Given the description of an element on the screen output the (x, y) to click on. 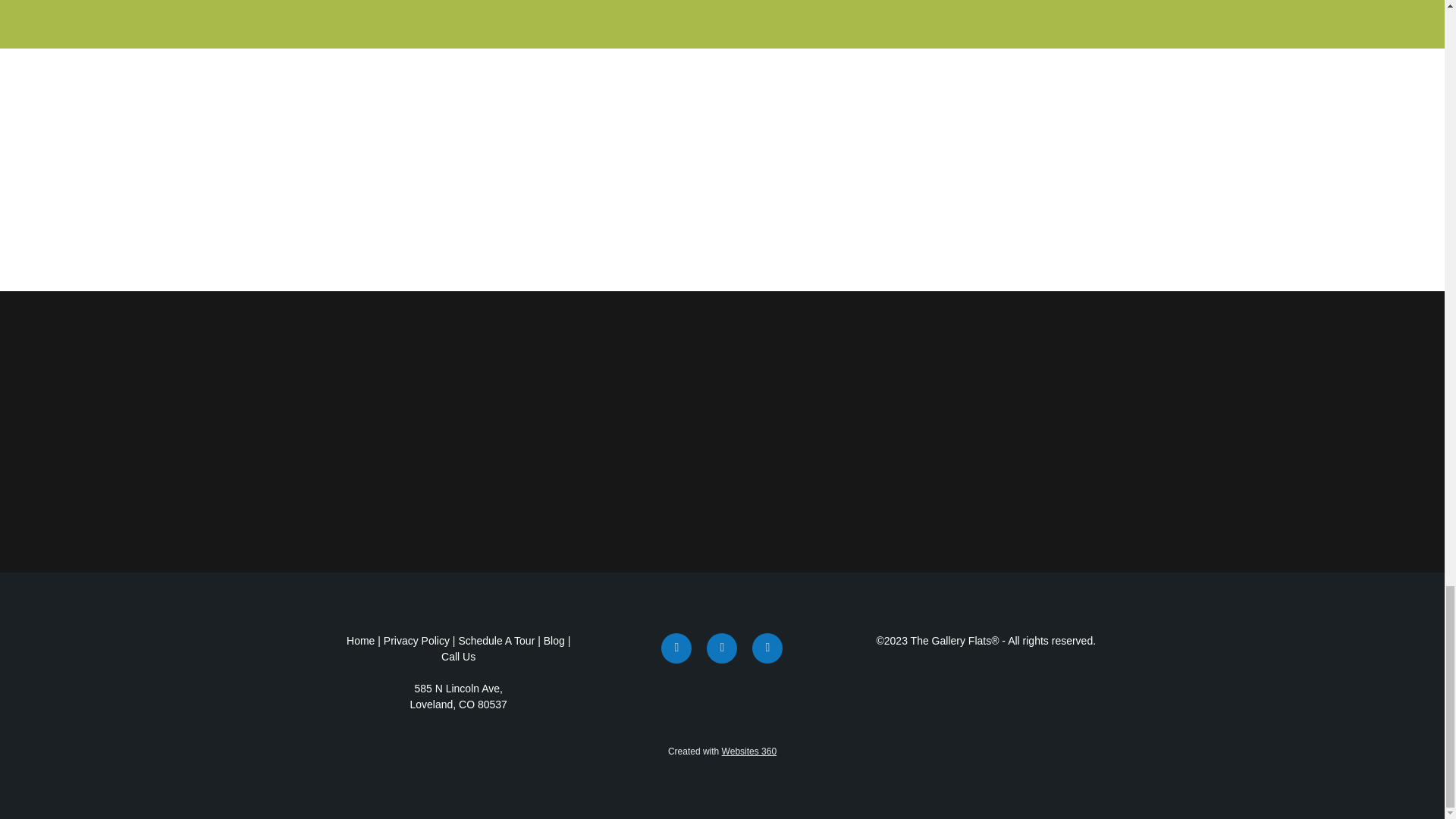
Created with Websites 360 (722, 751)
Home (361, 640)
Schedule A Tour (496, 640)
Blog (553, 640)
Call Us (458, 656)
Privacy Policy (416, 640)
